Given the description of an element on the screen output the (x, y) to click on. 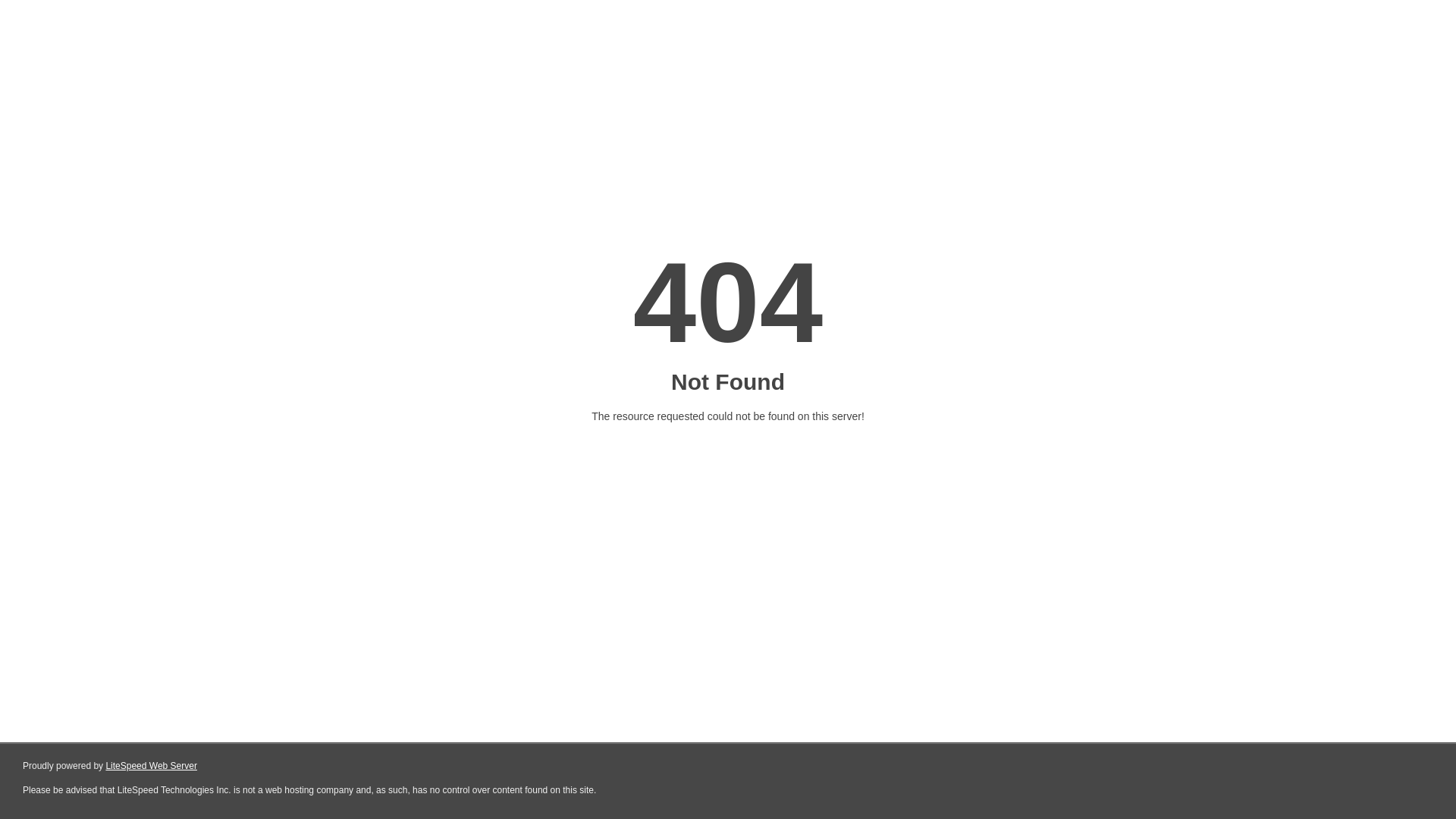
LiteSpeed Web Server Element type: text (151, 765)
